Given the description of an element on the screen output the (x, y) to click on. 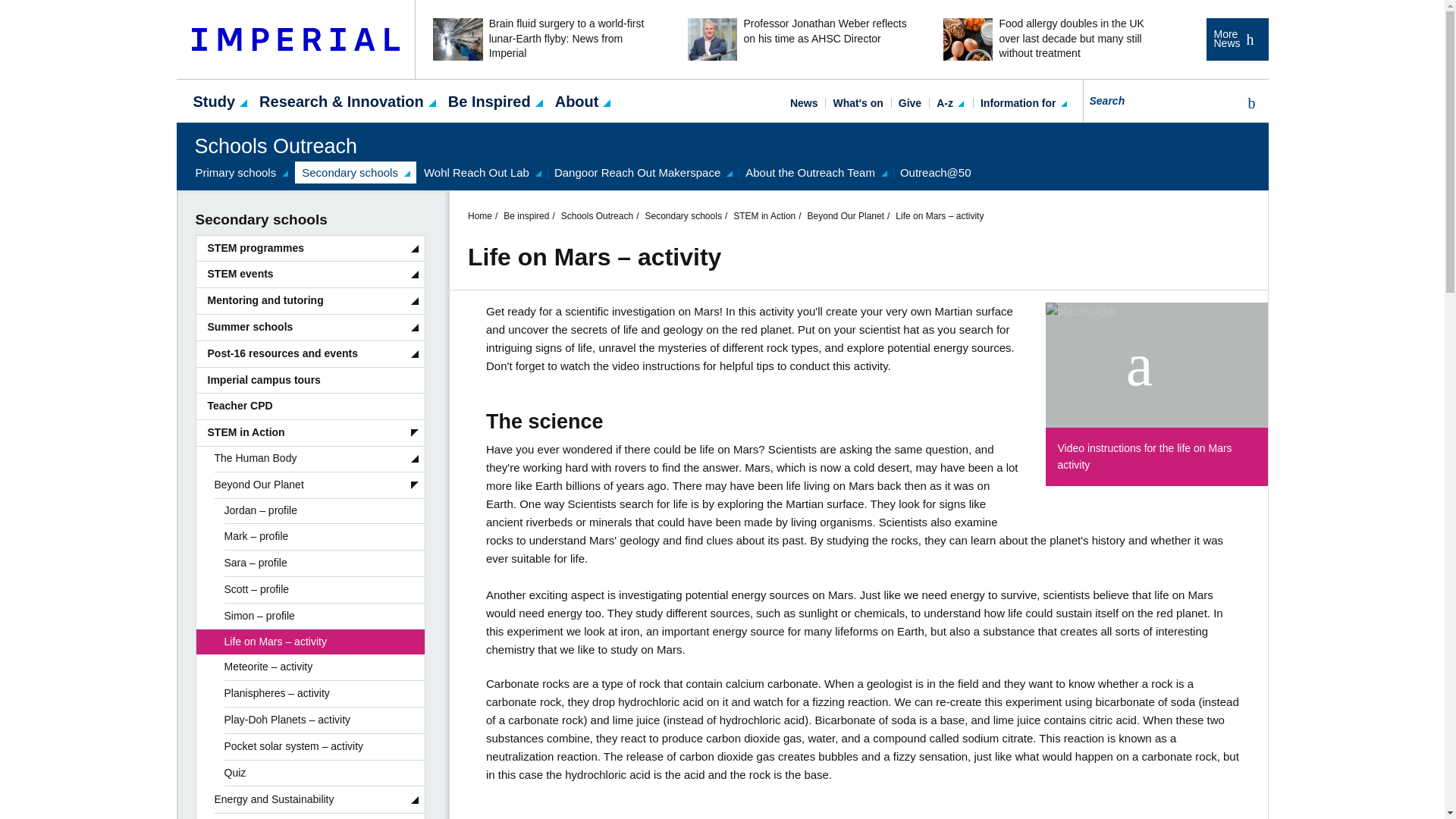
Imperial College London (295, 39)
Imperial College London Home (295, 39)
Study (213, 100)
More News (1236, 39)
Search for... (1161, 100)
Search (1249, 102)
